Given the description of an element on the screen output the (x, y) to click on. 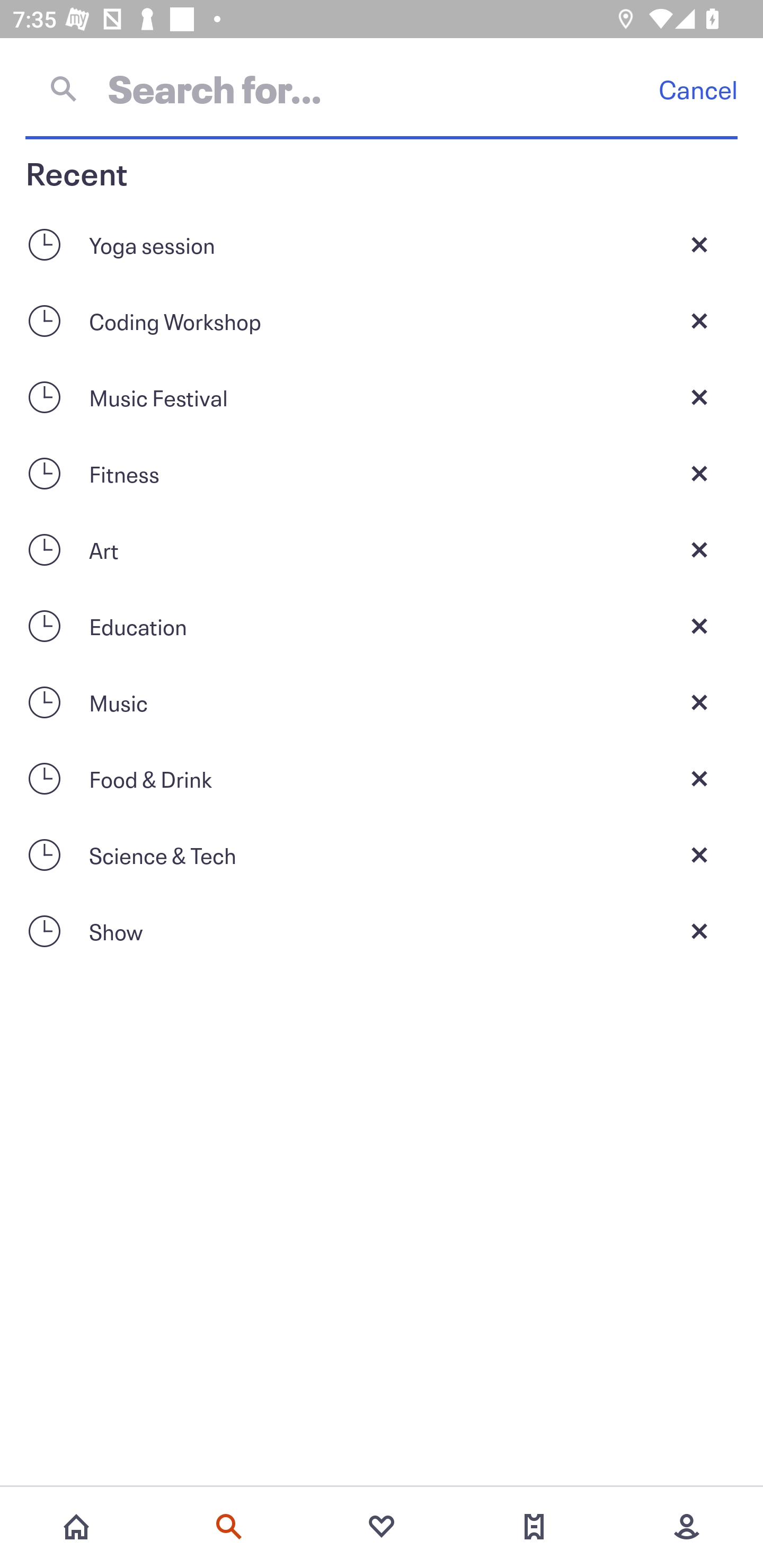
Cancel Search for… (381, 88)
Cancel (697, 89)
Yoga session Close current screen (381, 244)
Close current screen (699, 244)
Coding Workshop Close current screen (381, 320)
Close current screen (699, 320)
Music Festival Close current screen (381, 397)
Close current screen (699, 397)
Fitness Close current screen (381, 473)
Close current screen (699, 473)
Art Close current screen (381, 549)
Close current screen (699, 549)
Education Close current screen (381, 626)
Close current screen (699, 626)
Music Close current screen (381, 702)
Close current screen (699, 702)
Food & Drink Close current screen (381, 778)
Close current screen (699, 778)
Science & Tech Close current screen (381, 854)
Close current screen (699, 854)
Show Close current screen (381, 931)
Close current screen (699, 931)
Home (76, 1526)
Search events (228, 1526)
Favorites (381, 1526)
Tickets (533, 1526)
More (686, 1526)
